Given the description of an element on the screen output the (x, y) to click on. 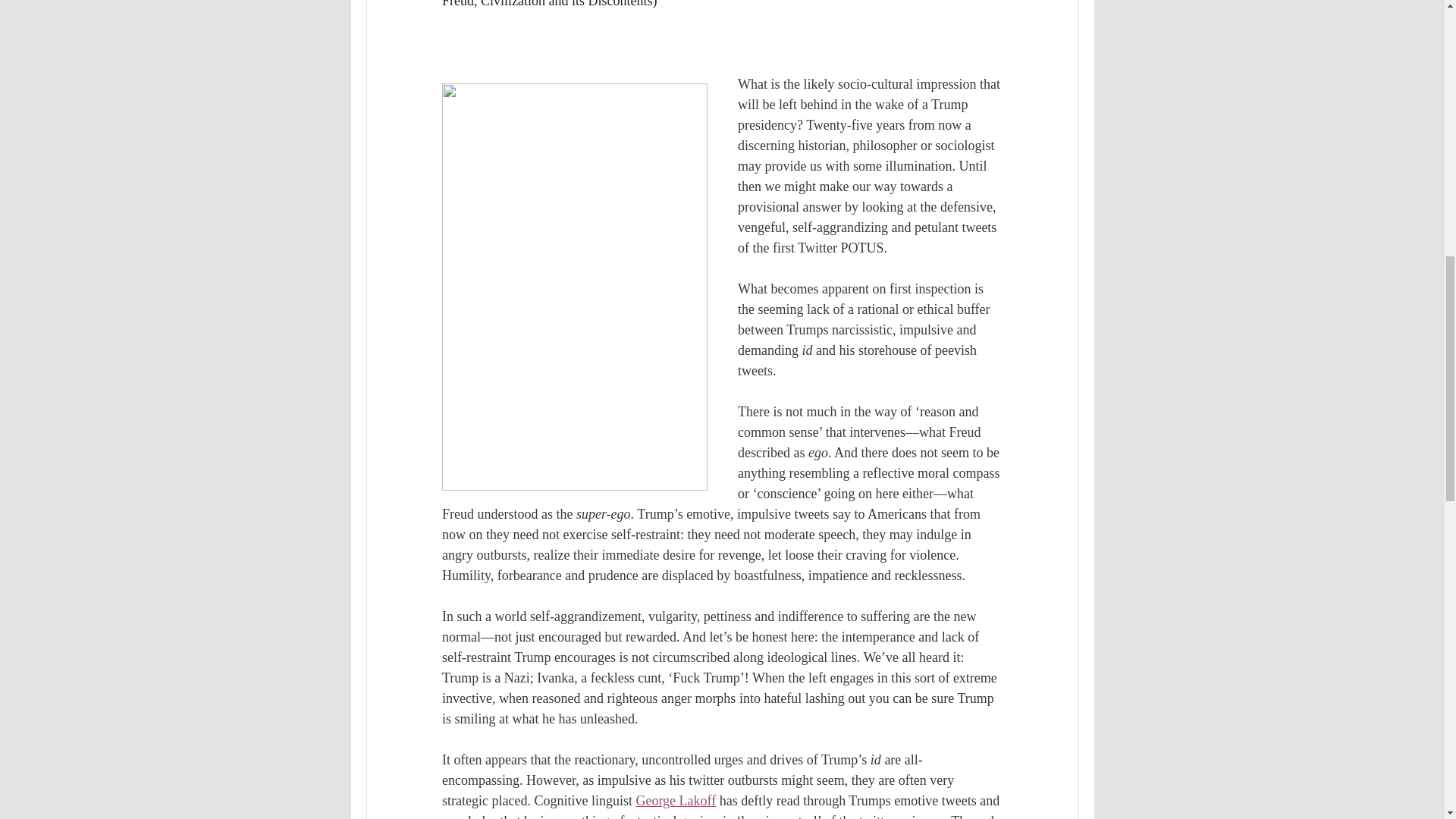
George Lakoff (675, 800)
